Given the description of an element on the screen output the (x, y) to click on. 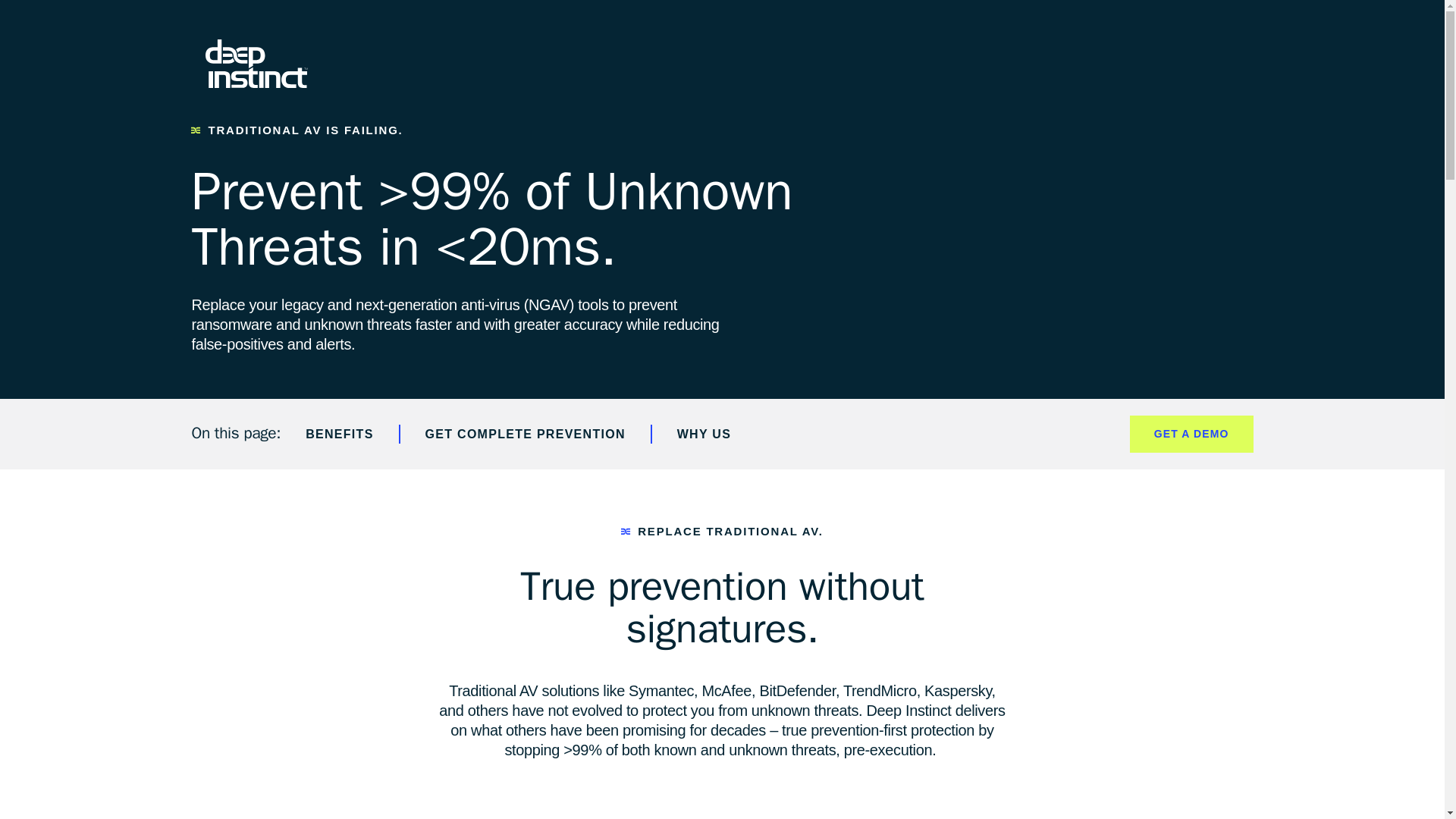
GET COMPLETE PREVENTION (526, 434)
BENEFITS (339, 434)
GET A DEMO (1191, 433)
WHY US (703, 434)
